Given the description of an element on the screen output the (x, y) to click on. 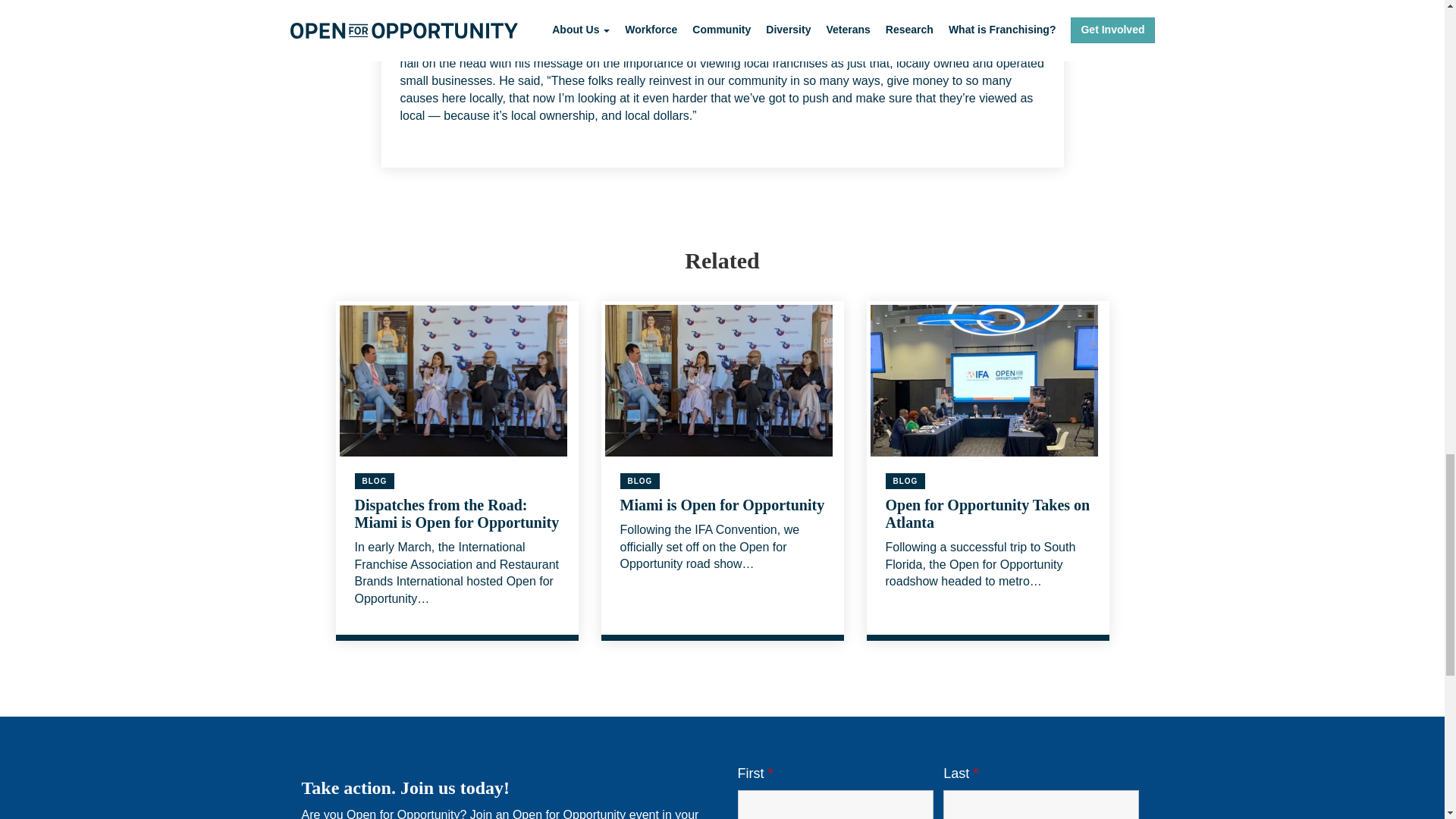
Dispatches from the Road: Miami is Open for Opportunity (457, 513)
Open for Opportunity Takes on Atlanta (987, 513)
Miami is Open for Opportunity (722, 504)
BLOG (374, 480)
BLOG (905, 480)
BLOG (640, 480)
certificate (464, 16)
